Given the description of an element on the screen output the (x, y) to click on. 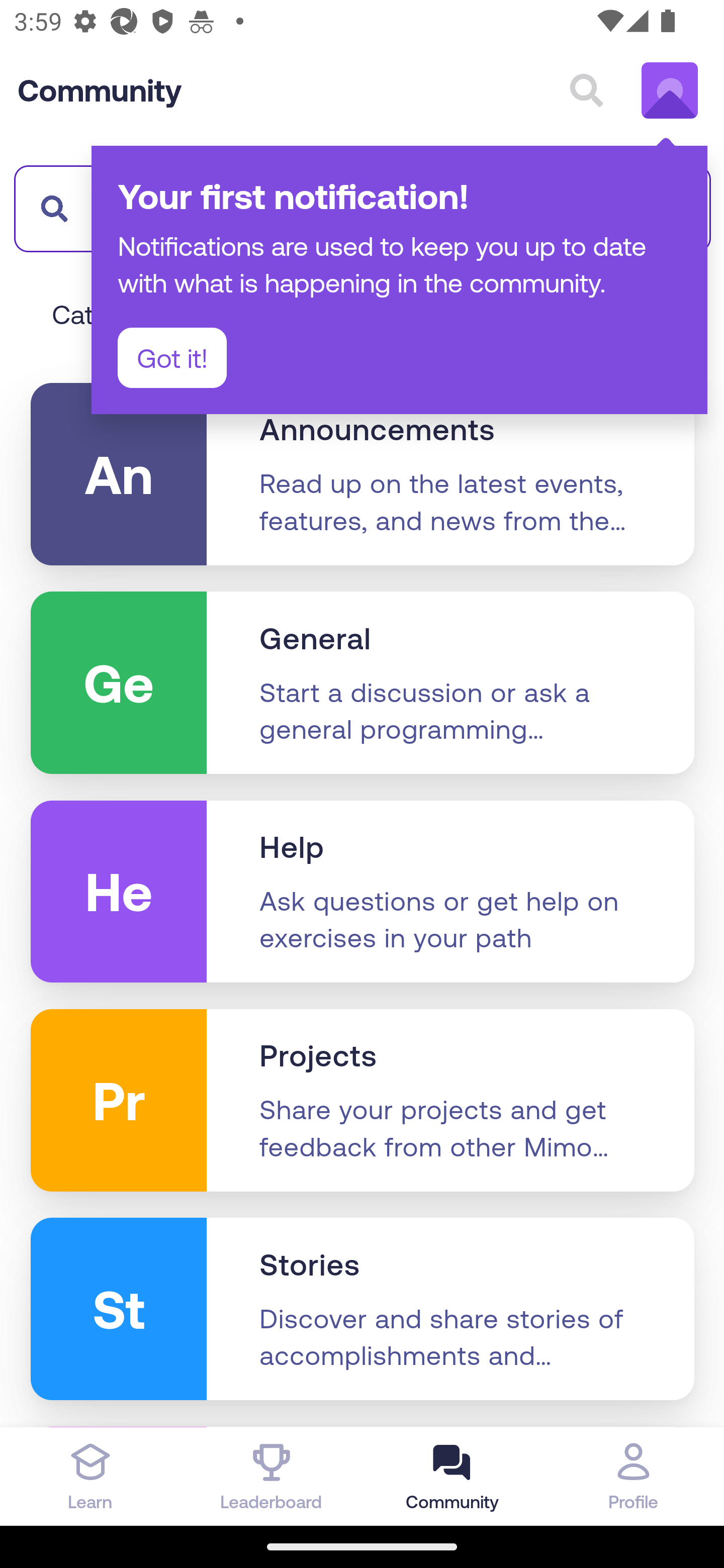
Search (586, 90)
Test Appium's account (669, 90)
Community (100, 90)
​ (48, 207)
Got it! (171, 357)
Announcements (376, 429)
General (315, 639)
Help (291, 847)
Projects (317, 1056)
Stories (309, 1265)
Learn (90, 1475)
Leaderboard (271, 1475)
Profile (633, 1475)
